Given the description of an element on the screen output the (x, y) to click on. 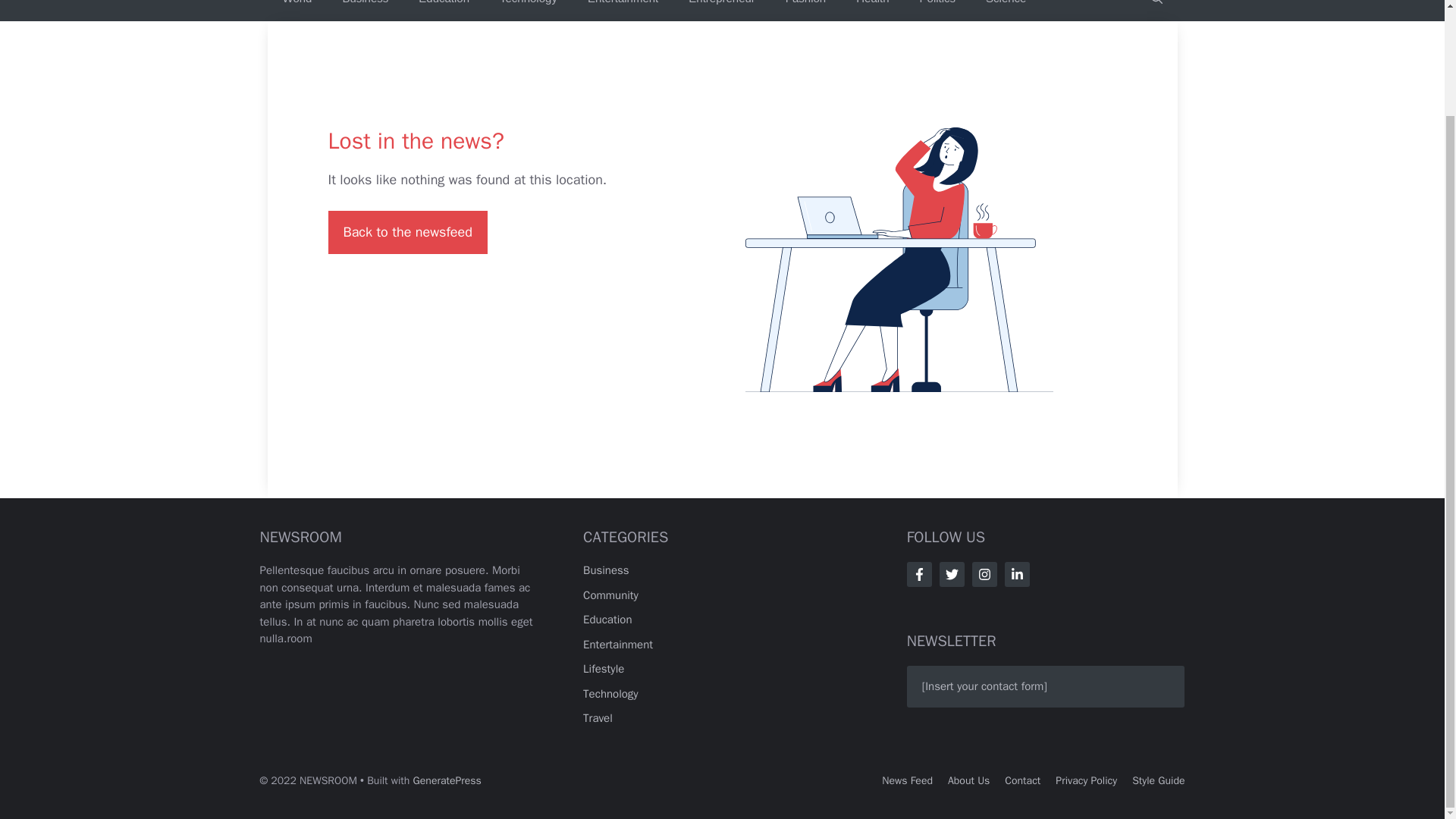
News Feed (907, 780)
Business (364, 10)
GeneratePress (447, 780)
World (296, 10)
Contact (1022, 780)
Community (611, 594)
Entertainment (617, 644)
Back to the newsfeed (406, 231)
Science (1006, 10)
Entrepreneur (721, 10)
